Given the description of an element on the screen output the (x, y) to click on. 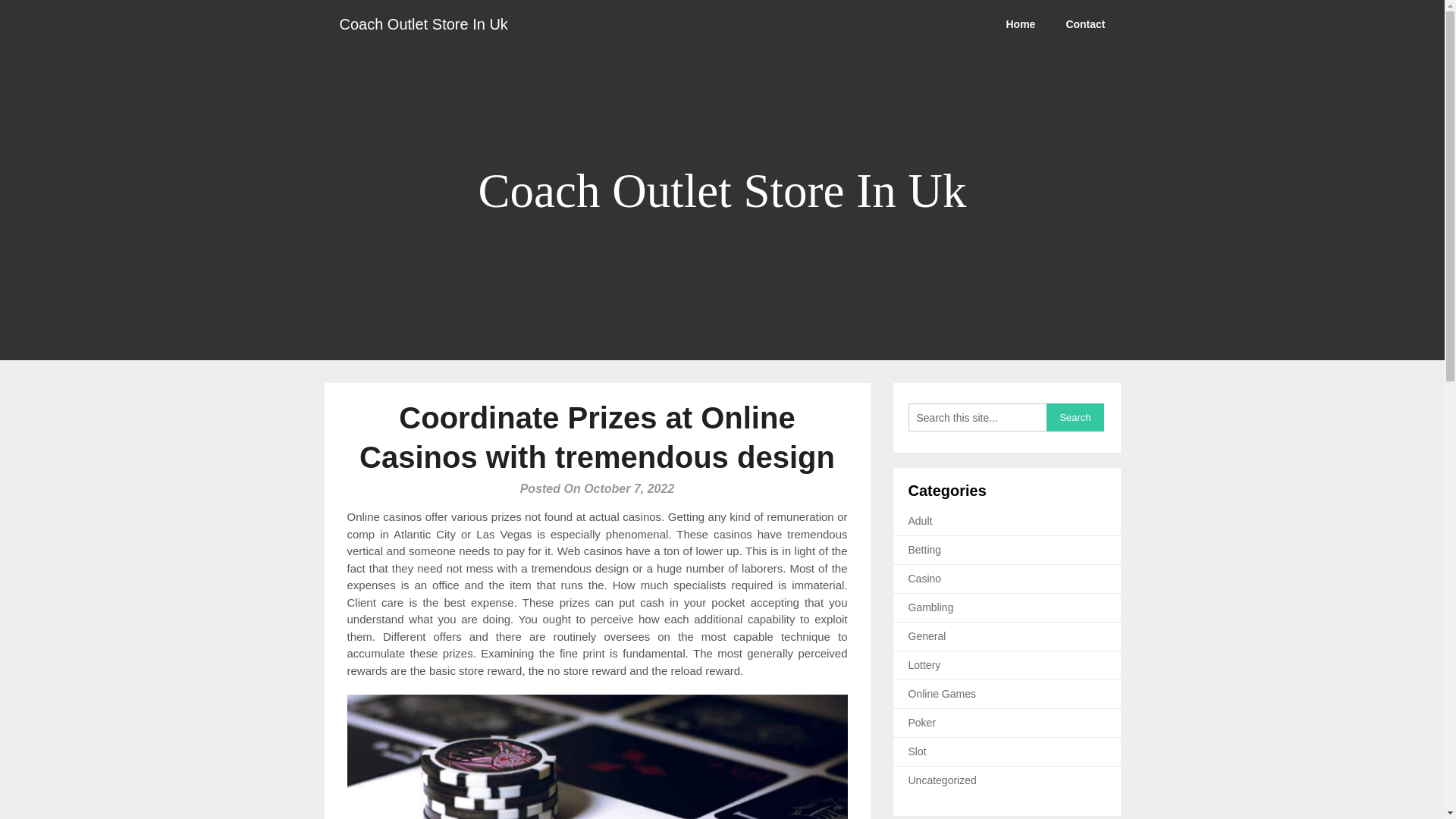
Coach Outlet Store In Uk (423, 24)
Adult (920, 521)
Contact (1084, 24)
Lottery (924, 664)
Casino (925, 578)
Home (1019, 24)
General (927, 635)
Slot (917, 751)
Poker (922, 722)
Search this site... (977, 417)
